Given the description of an element on the screen output the (x, y) to click on. 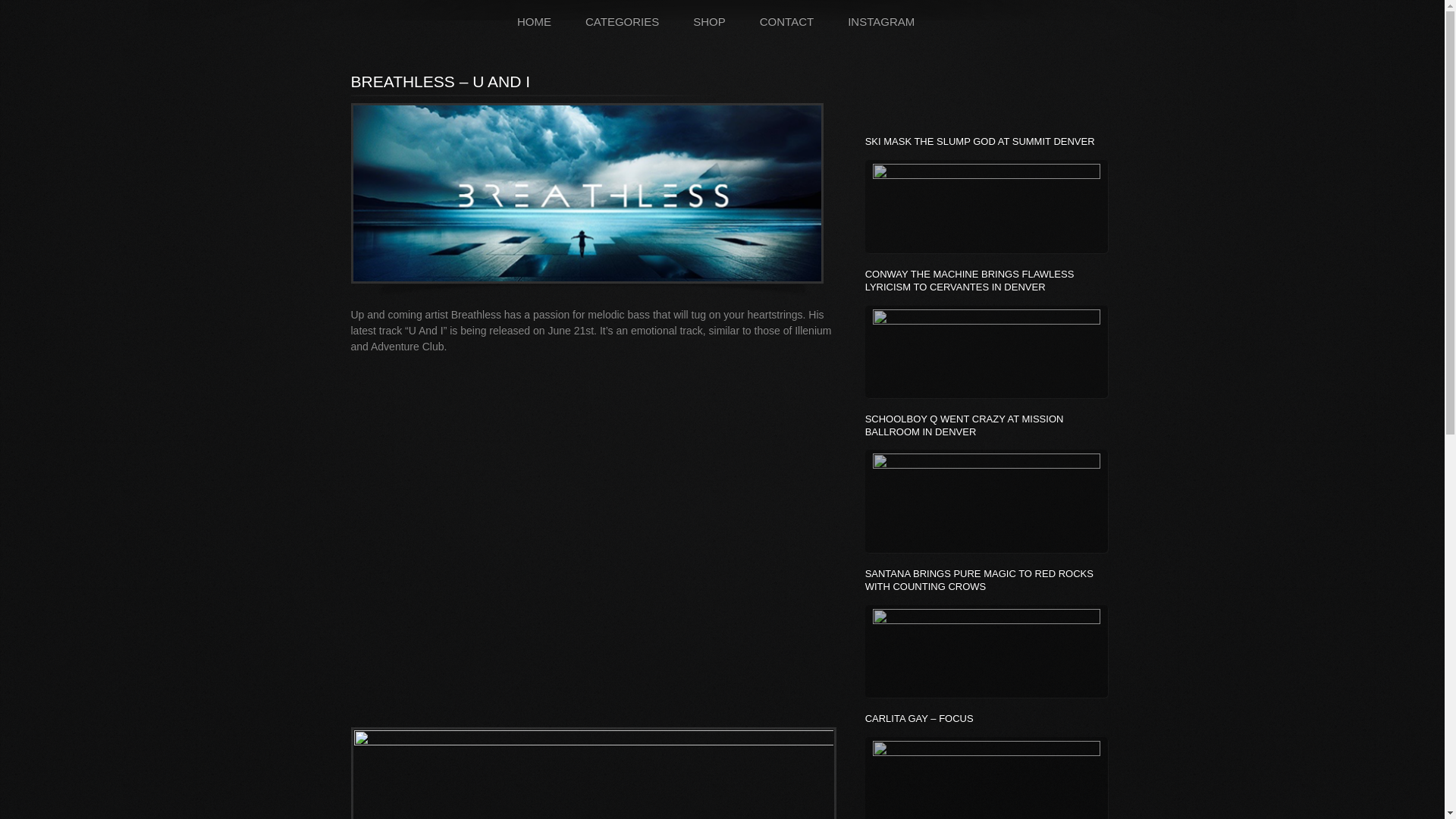
INSTAGRAM (881, 21)
CATEGORIES (623, 21)
contact (785, 21)
CONTACT (785, 21)
SHOP (709, 21)
HOME (534, 21)
